Given the description of an element on the screen output the (x, y) to click on. 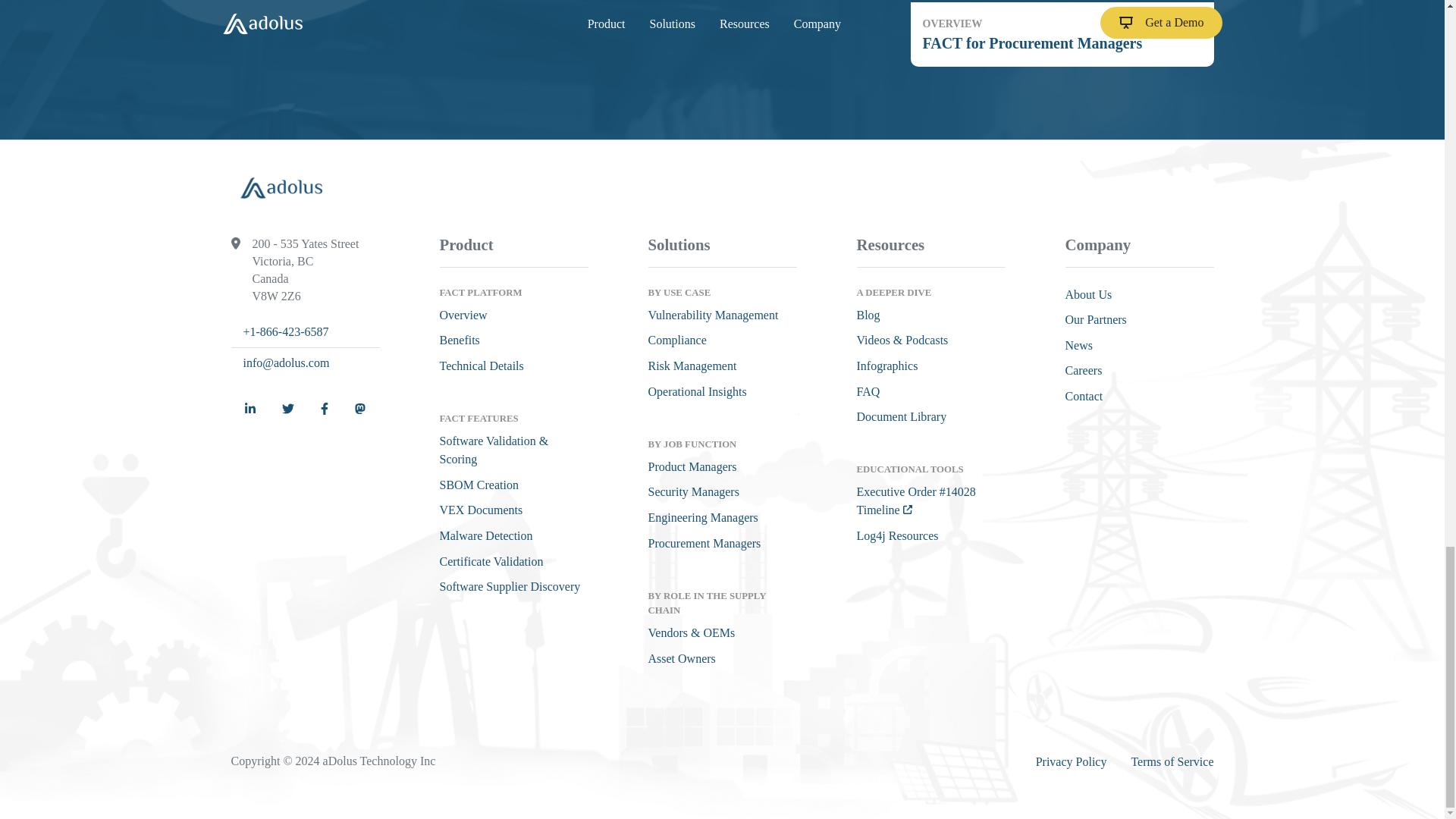
Security Managers (692, 491)
Asset Owners (680, 658)
Technical Details (481, 365)
Certificate Validation (491, 561)
Engineering Managers (702, 517)
Software Supplier Discovery (1061, 33)
Compliance (509, 585)
Overview (676, 339)
VEX Documents (463, 314)
SBOM Creation (480, 509)
Risk Management (478, 484)
Product Managers (691, 365)
Vulnerability Management (691, 466)
Procurement Managers (712, 314)
